Given the description of an element on the screen output the (x, y) to click on. 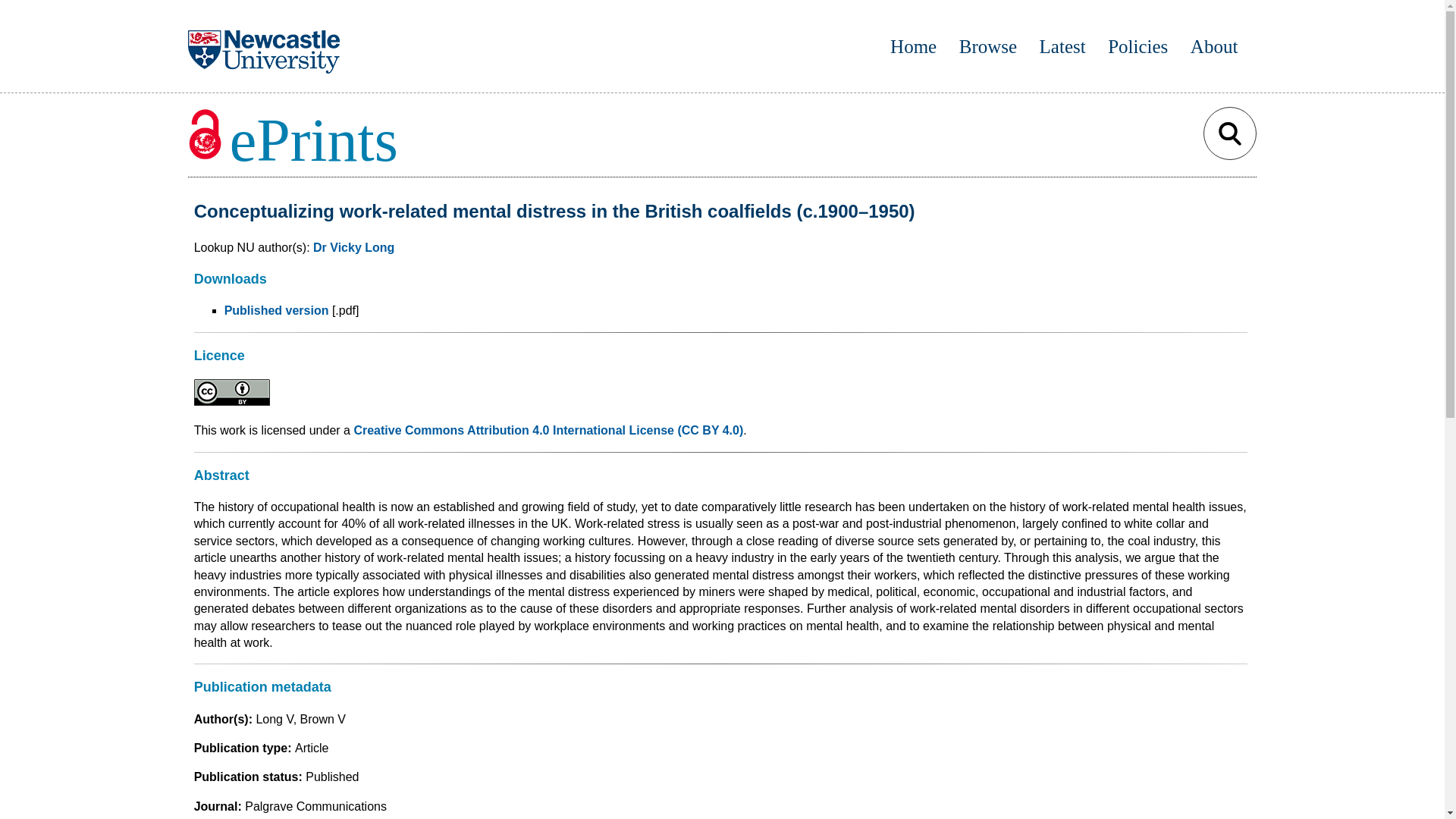
Latest (1062, 46)
submit (1230, 133)
About Open Access (1215, 46)
View ePrints listed within the last month (1062, 46)
About (1215, 46)
Browse by author or year (987, 46)
Policies (1137, 46)
ePrints homepage (912, 46)
Newcastle University eprints (309, 140)
Browse (987, 46)
Newcastle University eprints (292, 140)
Published version (276, 309)
View usage policies (1137, 46)
submit (1230, 133)
ePrints (292, 140)
